Given the description of an element on the screen output the (x, y) to click on. 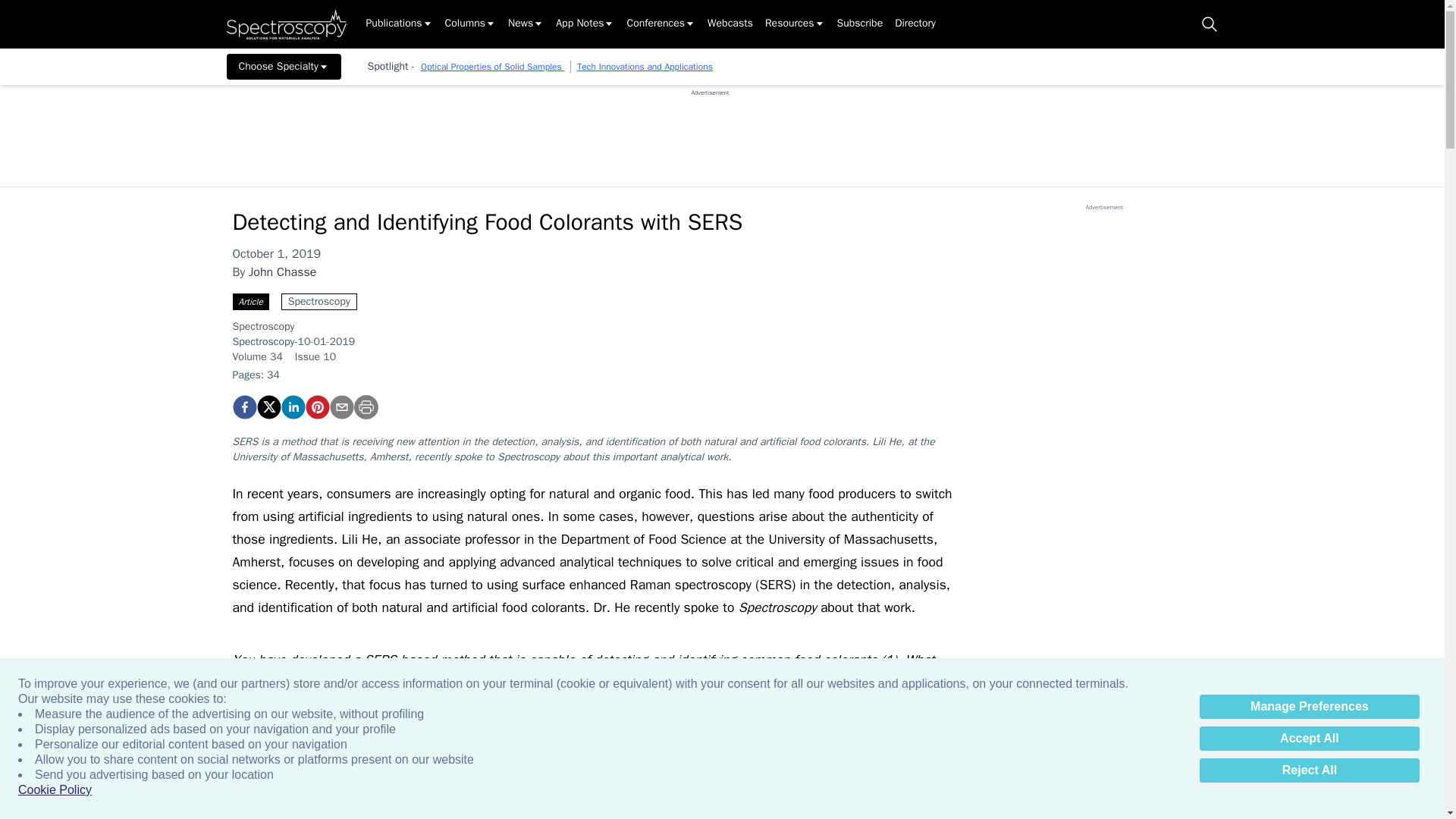
Columns (470, 23)
Detecting and Identifying Food Colorants with SERS (316, 406)
Publications (398, 23)
Manage Preferences (1309, 706)
Cookie Policy (54, 789)
App Notes (585, 23)
Reject All (1309, 769)
3rd party ad content (709, 131)
Conferences (660, 23)
Accept All (1309, 738)
